Given the description of an element on the screen output the (x, y) to click on. 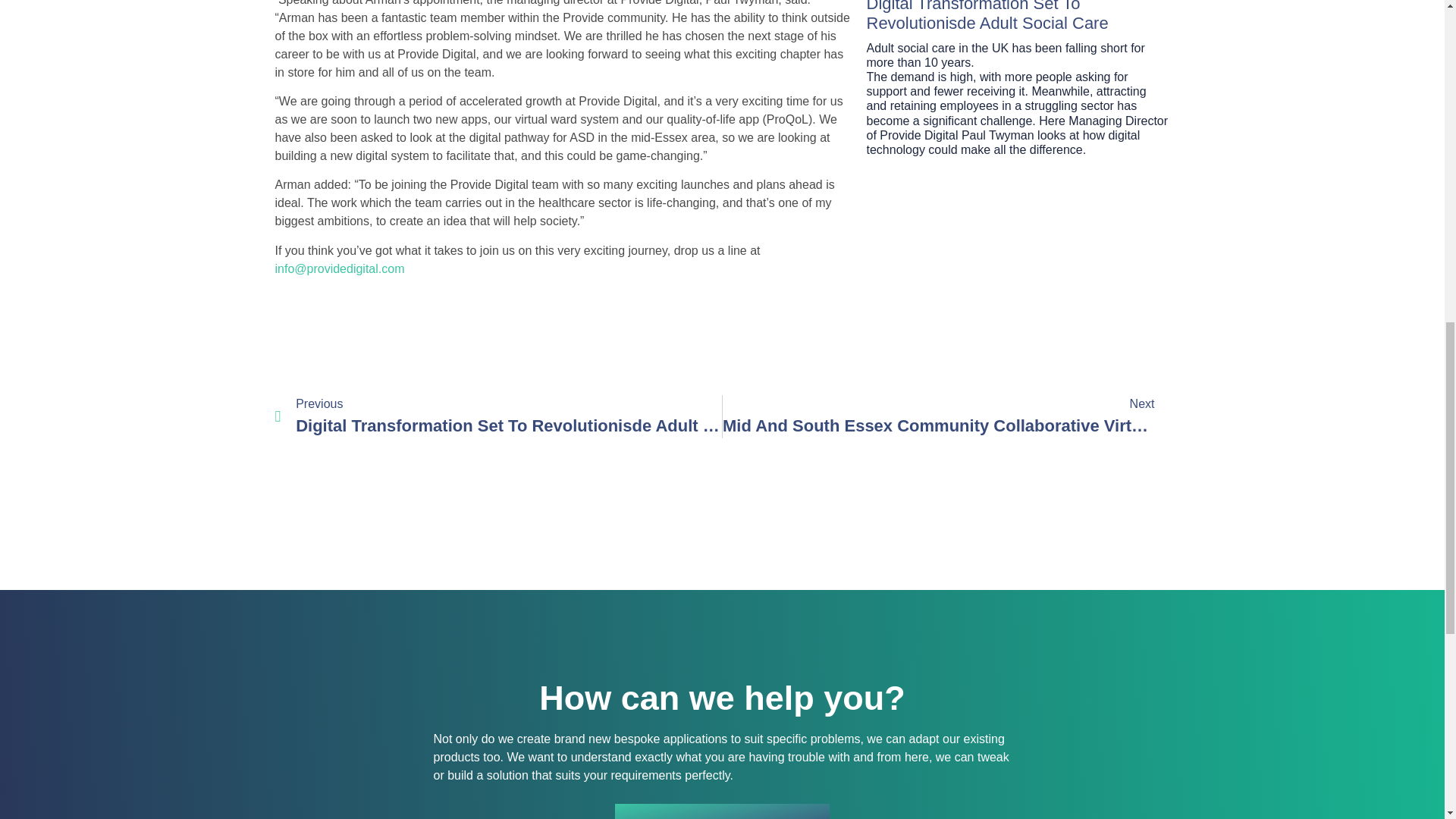
BOOK A CONSULTATION (721, 811)
